Given the description of an element on the screen output the (x, y) to click on. 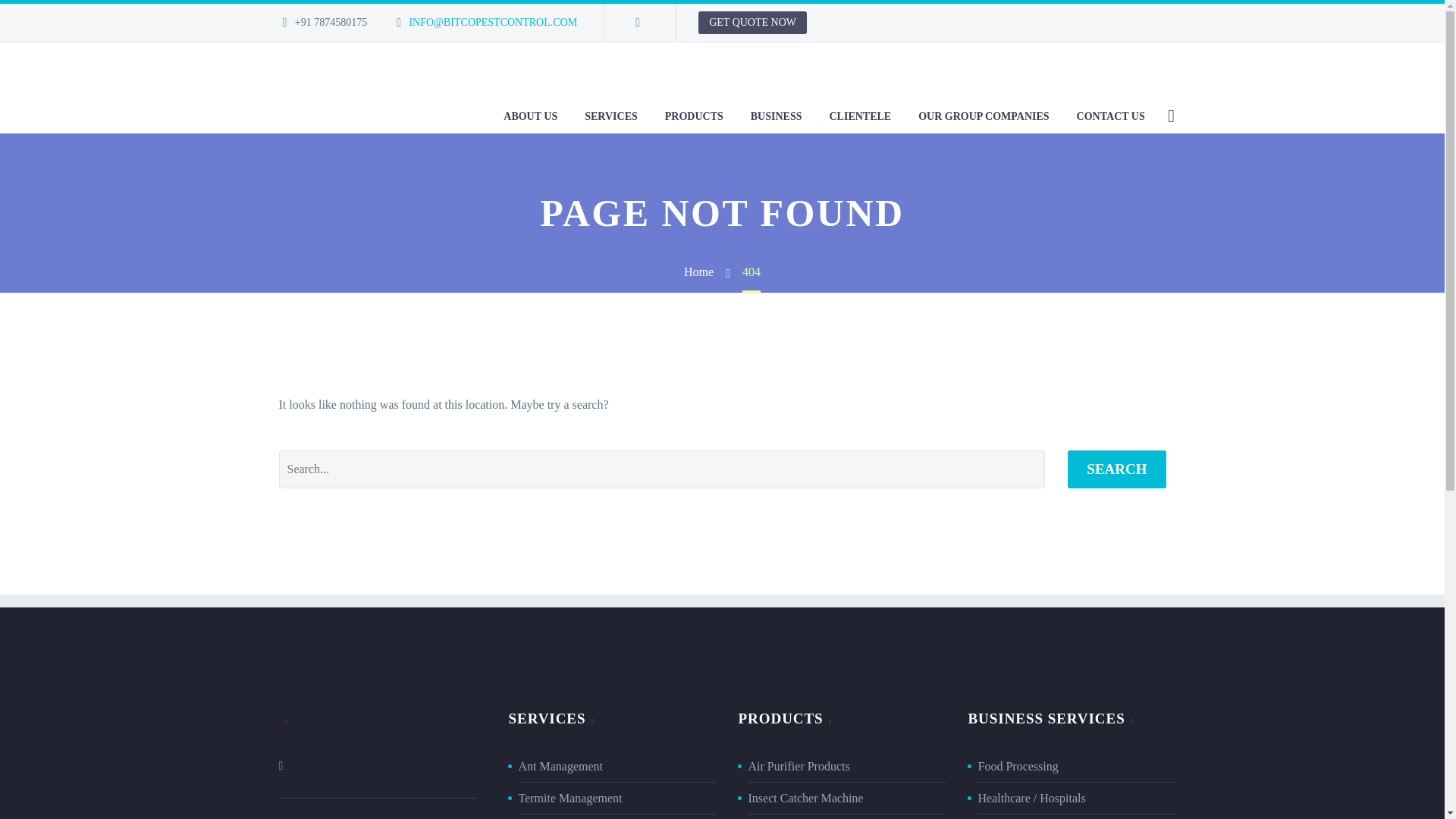
SERVICES (611, 115)
PRODUCTS (694, 115)
Facebook (637, 22)
ABOUT US (530, 115)
GET QUOTE NOW (752, 22)
